Given the description of an element on the screen output the (x, y) to click on. 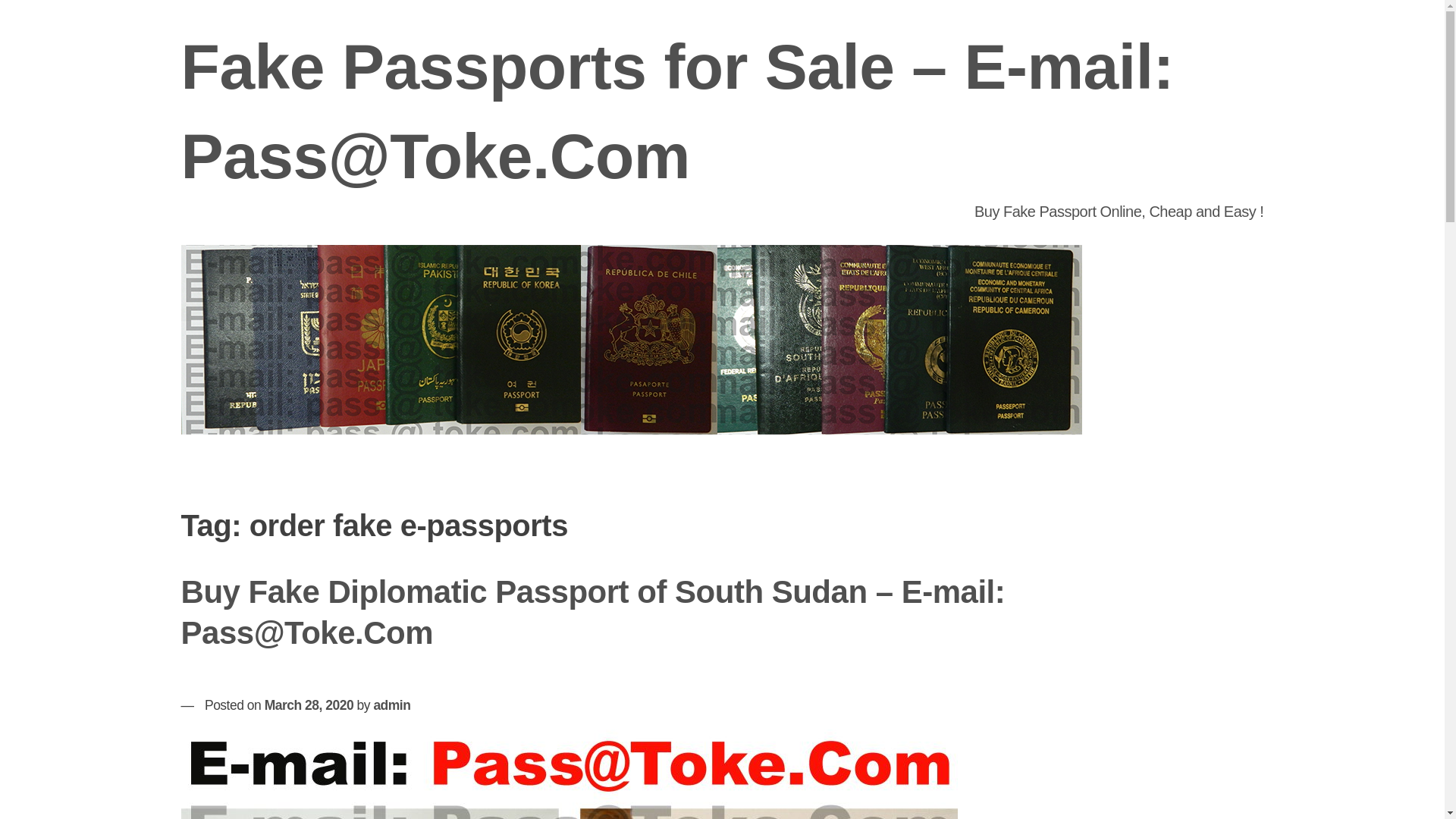
Buy Fake Diplomatic Passport of South Sudan (569, 774)
March 28, 2020 (308, 704)
admin (391, 704)
